Given the description of an element on the screen output the (x, y) to click on. 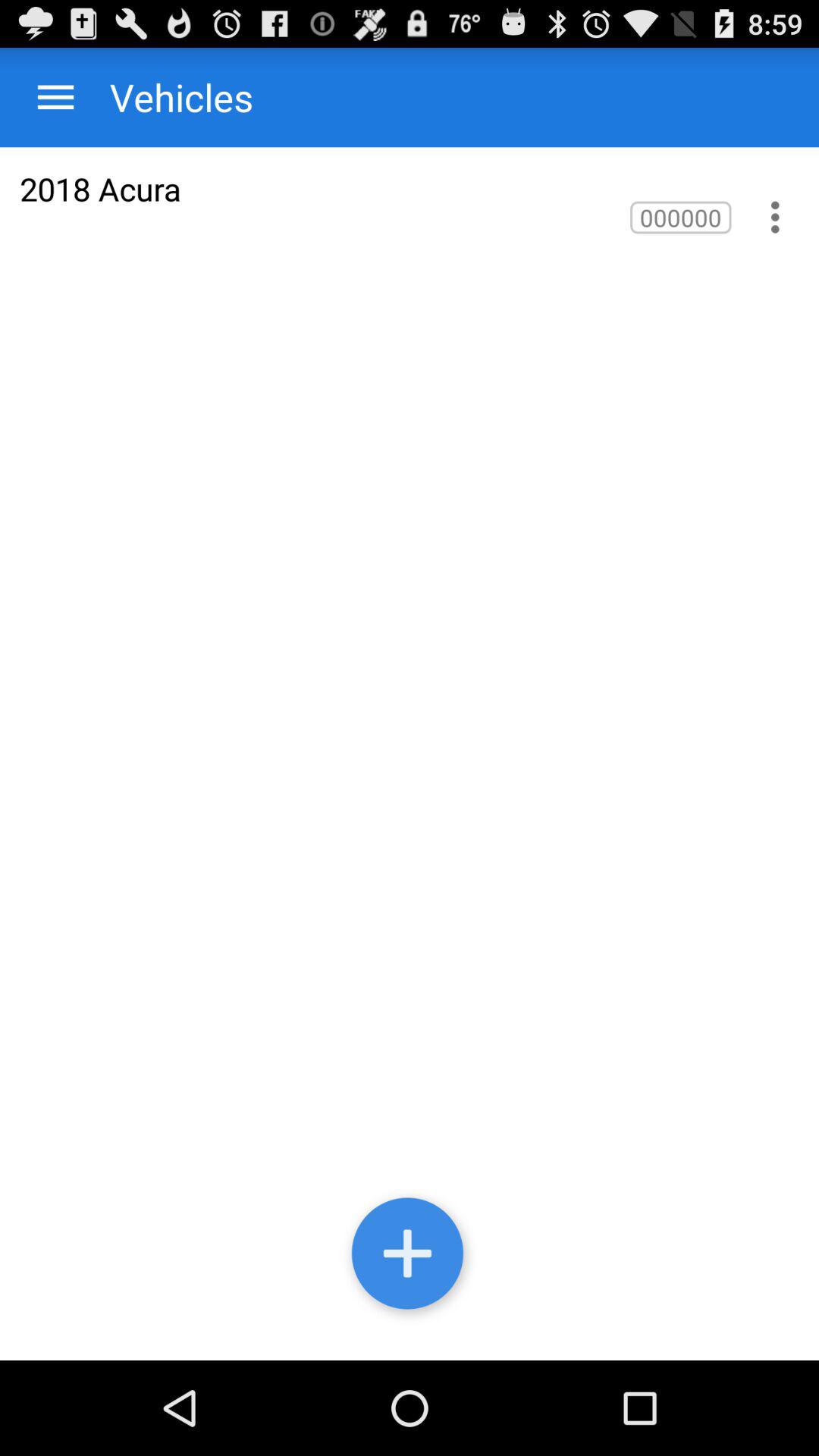
select the app above 2018 acura (55, 97)
